Given the description of an element on the screen output the (x, y) to click on. 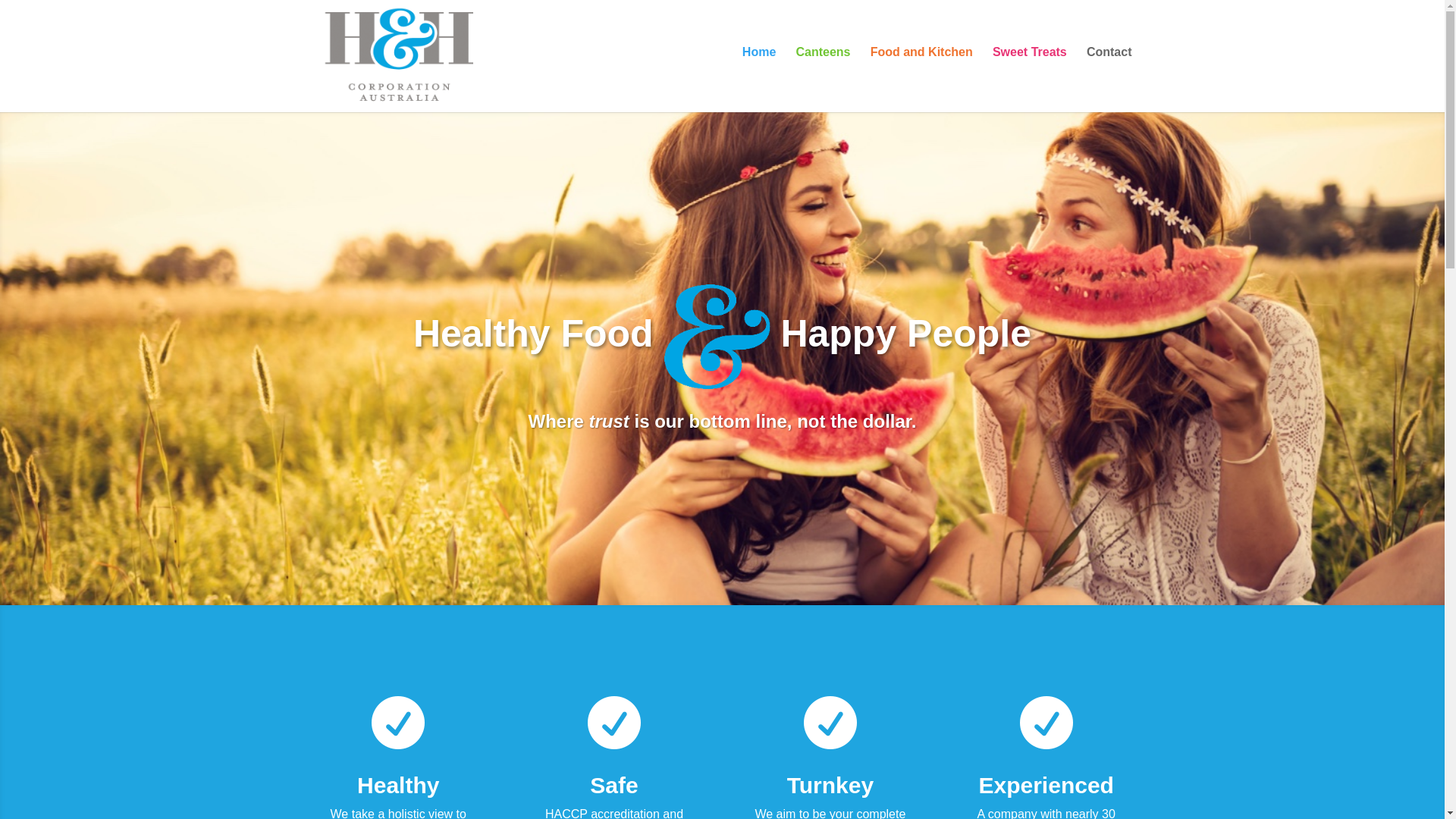
Food and Kitchen Element type: text (921, 75)
Contact Element type: text (1109, 75)
Home Element type: text (758, 75)
Canteens Element type: text (822, 75)
Sweet Treats Element type: text (1029, 75)
